Given the description of an element on the screen output the (x, y) to click on. 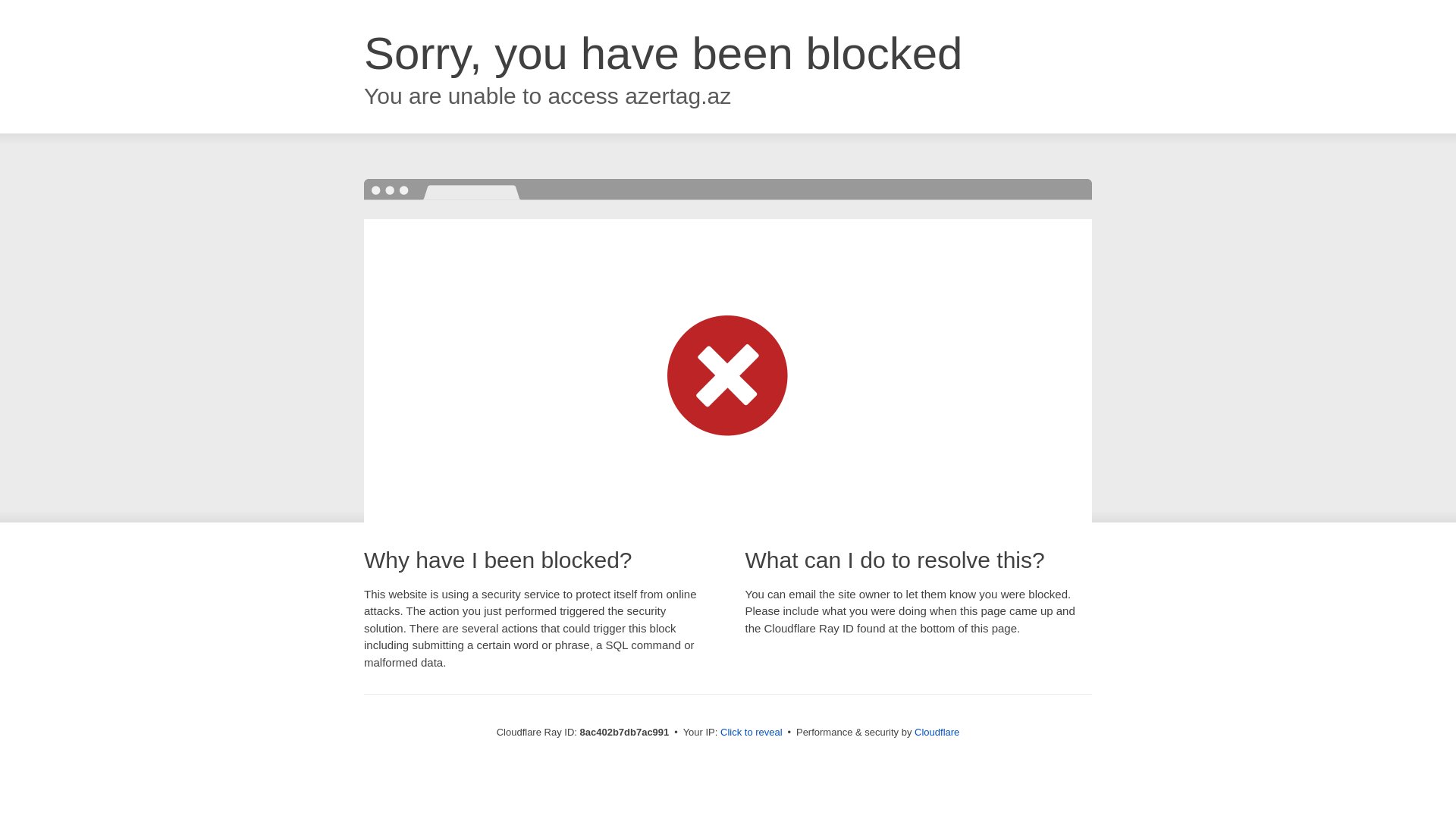
Cloudflare (936, 731)
Click to reveal (751, 732)
